Given the description of an element on the screen output the (x, y) to click on. 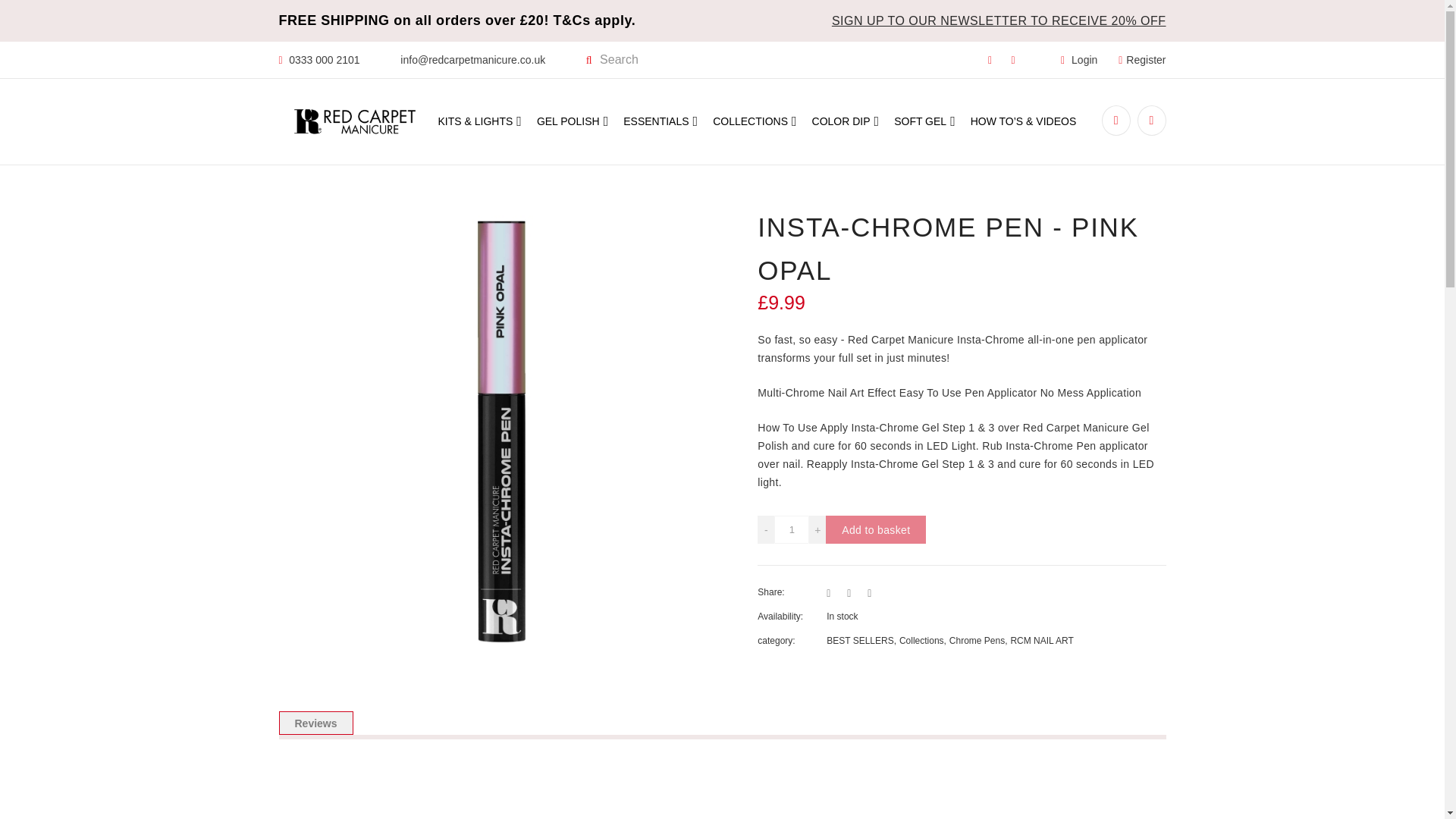
Add to basket (875, 529)
COLLECTIONS (754, 121)
GEL POLISH (572, 121)
1 (791, 529)
Register (1142, 60)
COLOR DIP (845, 121)
Qty (791, 529)
Login (1079, 60)
ESSENTIALS (660, 121)
Availability (807, 617)
